Given the description of an element on the screen output the (x, y) to click on. 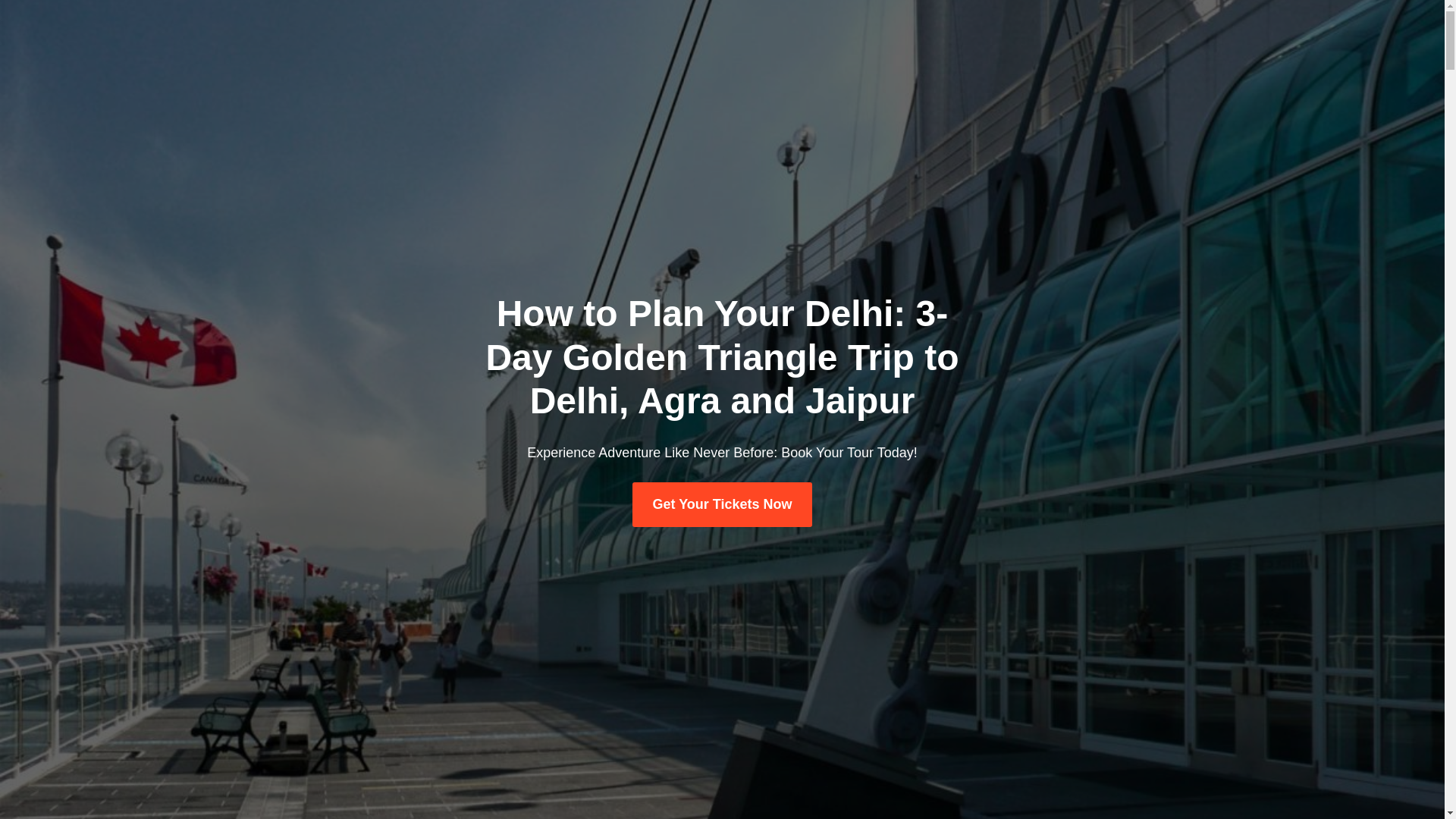
Get Your Tickets Now (720, 504)
